Given the description of an element on the screen output the (x, y) to click on. 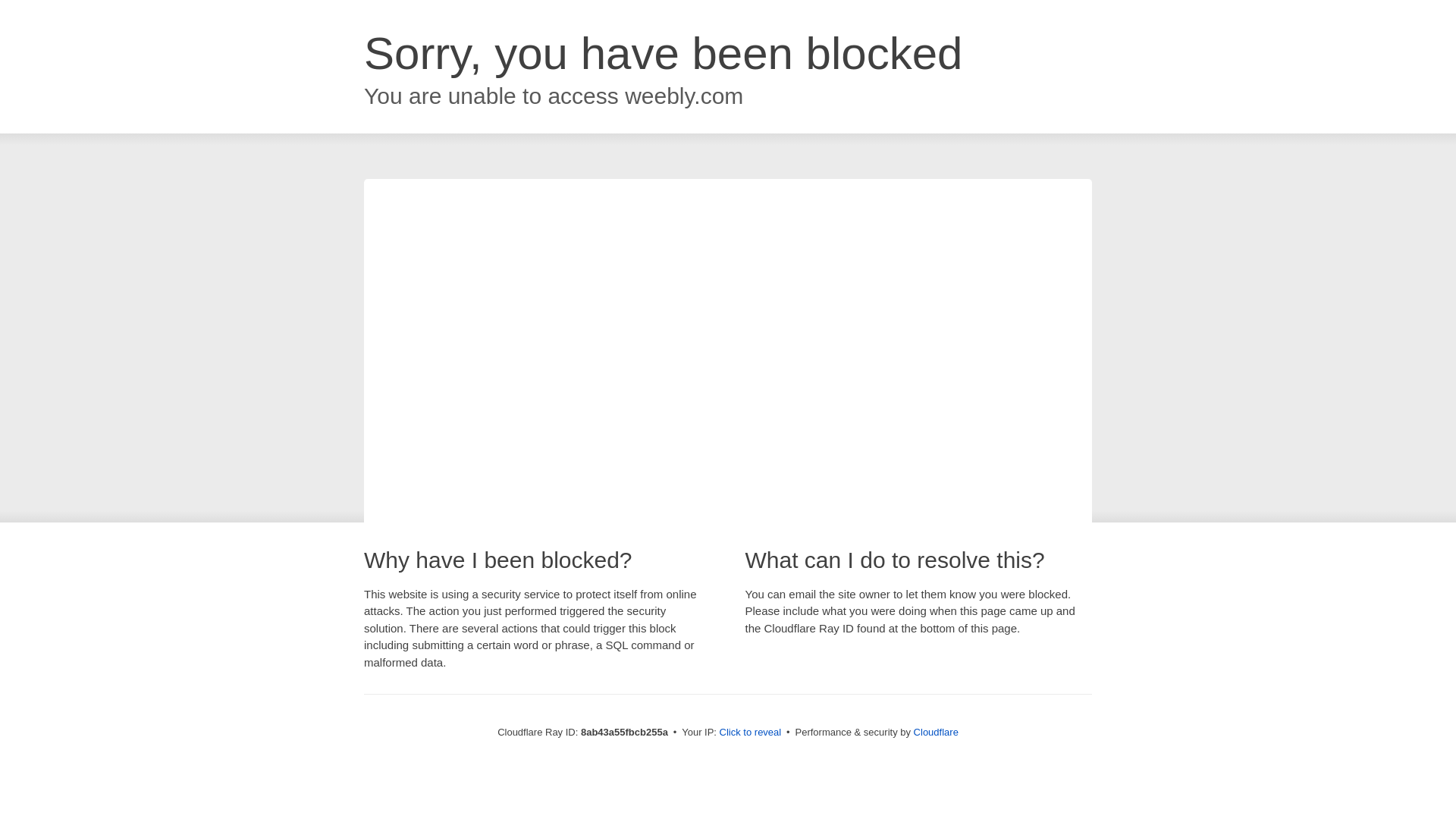
Cloudflare (936, 731)
Click to reveal (750, 732)
